Given the description of an element on the screen output the (x, y) to click on. 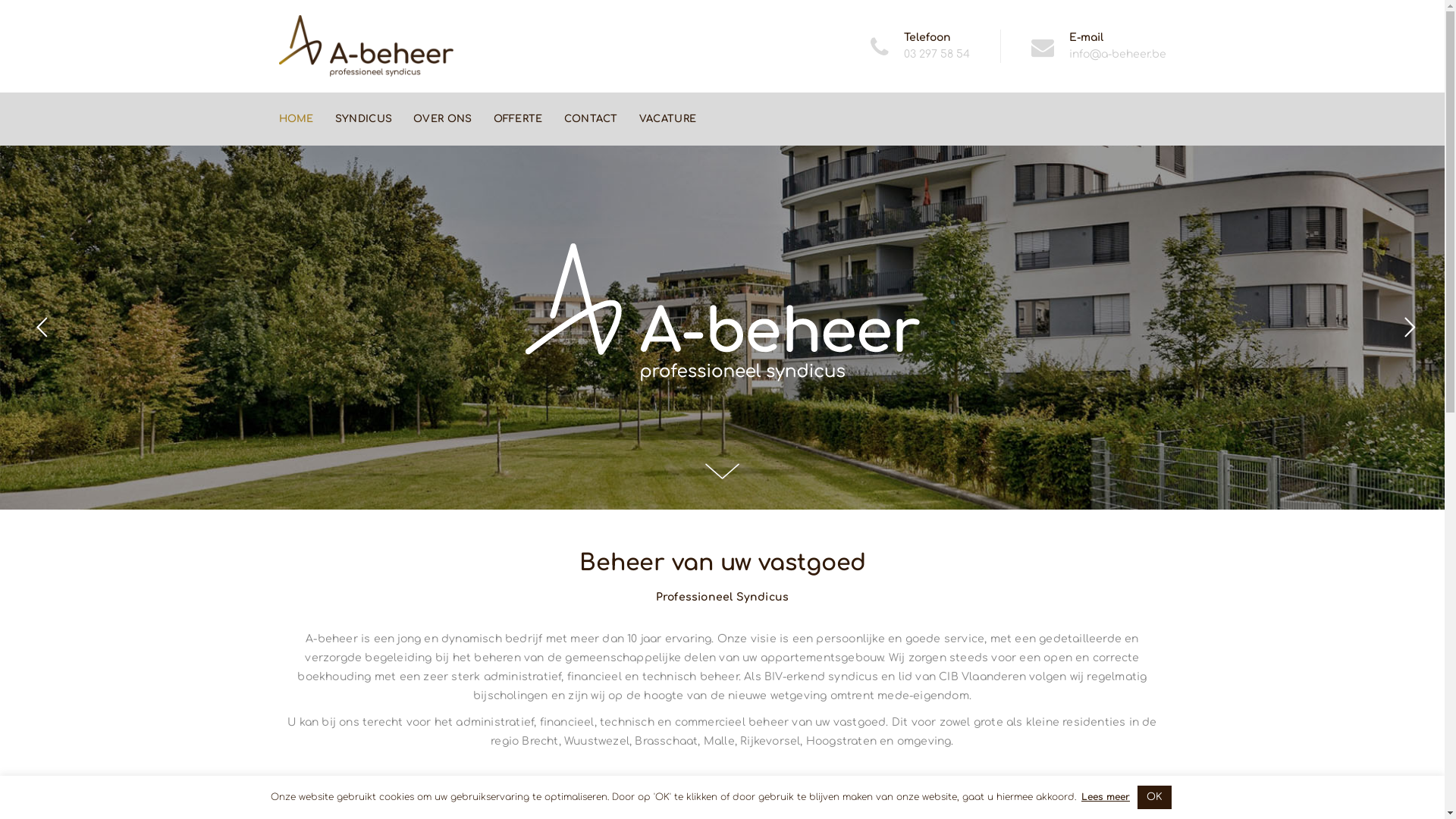
Lees meer Element type: text (1105, 796)
03 297 58 54 Element type: text (936, 53)
OVER A-BEHEER Element type: text (722, 794)
OVER ONS Element type: text (442, 118)
VACATURE Element type: text (667, 118)
OFFERTE Element type: text (517, 118)
SYNDICUS Element type: text (363, 118)
OK Element type: text (1154, 797)
CONTACT Element type: text (591, 118)
info@a-beheer.be Element type: text (1117, 53)
HOME Element type: text (296, 118)
